Given the description of an element on the screen output the (x, y) to click on. 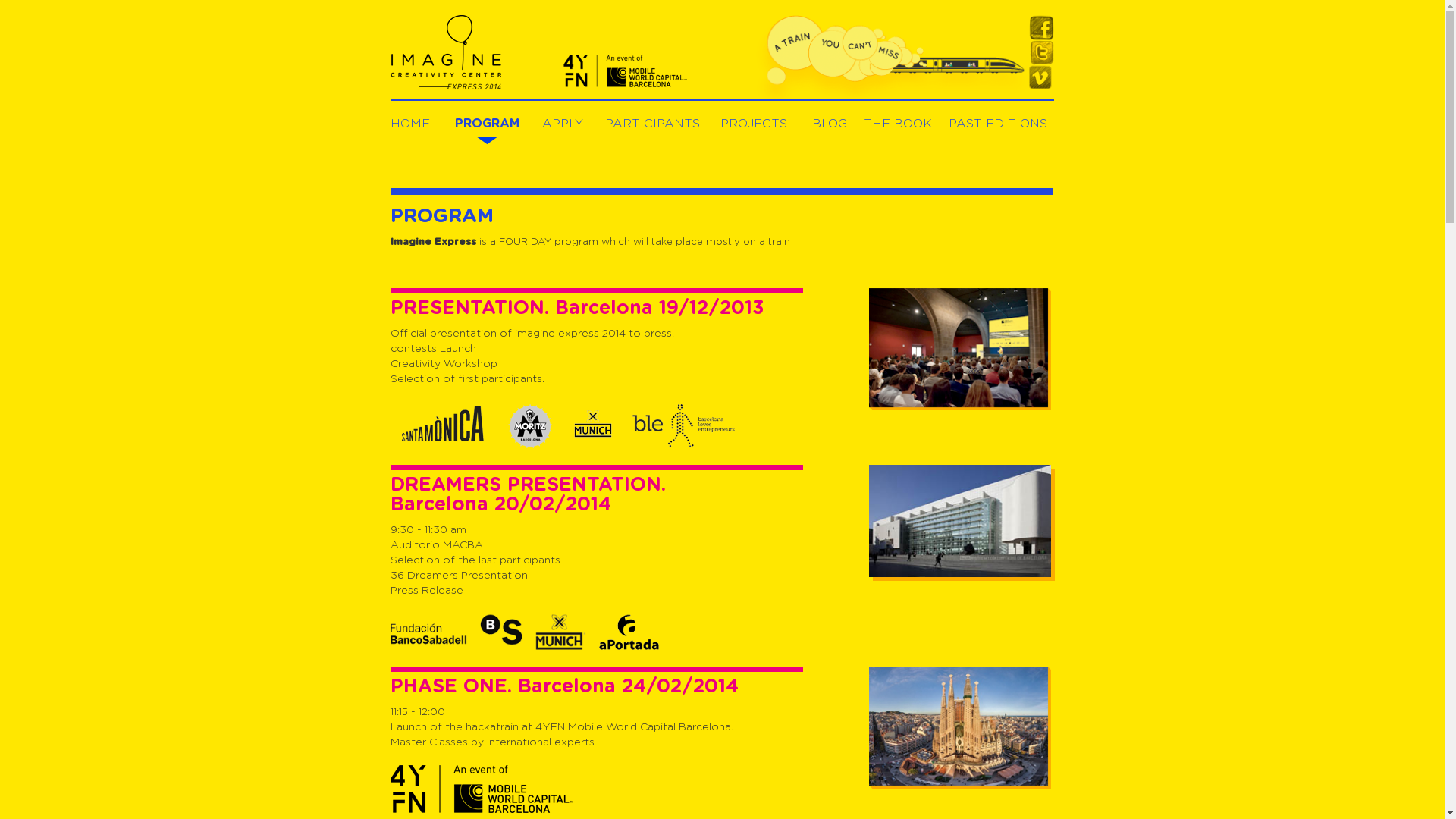
BLOG Element type: text (828, 123)
THE BOOK Element type: text (896, 123)
HOME Element type: text (409, 123)
PARTICIPANTS Element type: text (652, 123)
PROJECTS Element type: text (753, 123)
APPLY Element type: text (562, 123)
PAST EDITIONS Element type: text (997, 123)
PROGRAM Element type: text (487, 123)
